Given the description of an element on the screen output the (x, y) to click on. 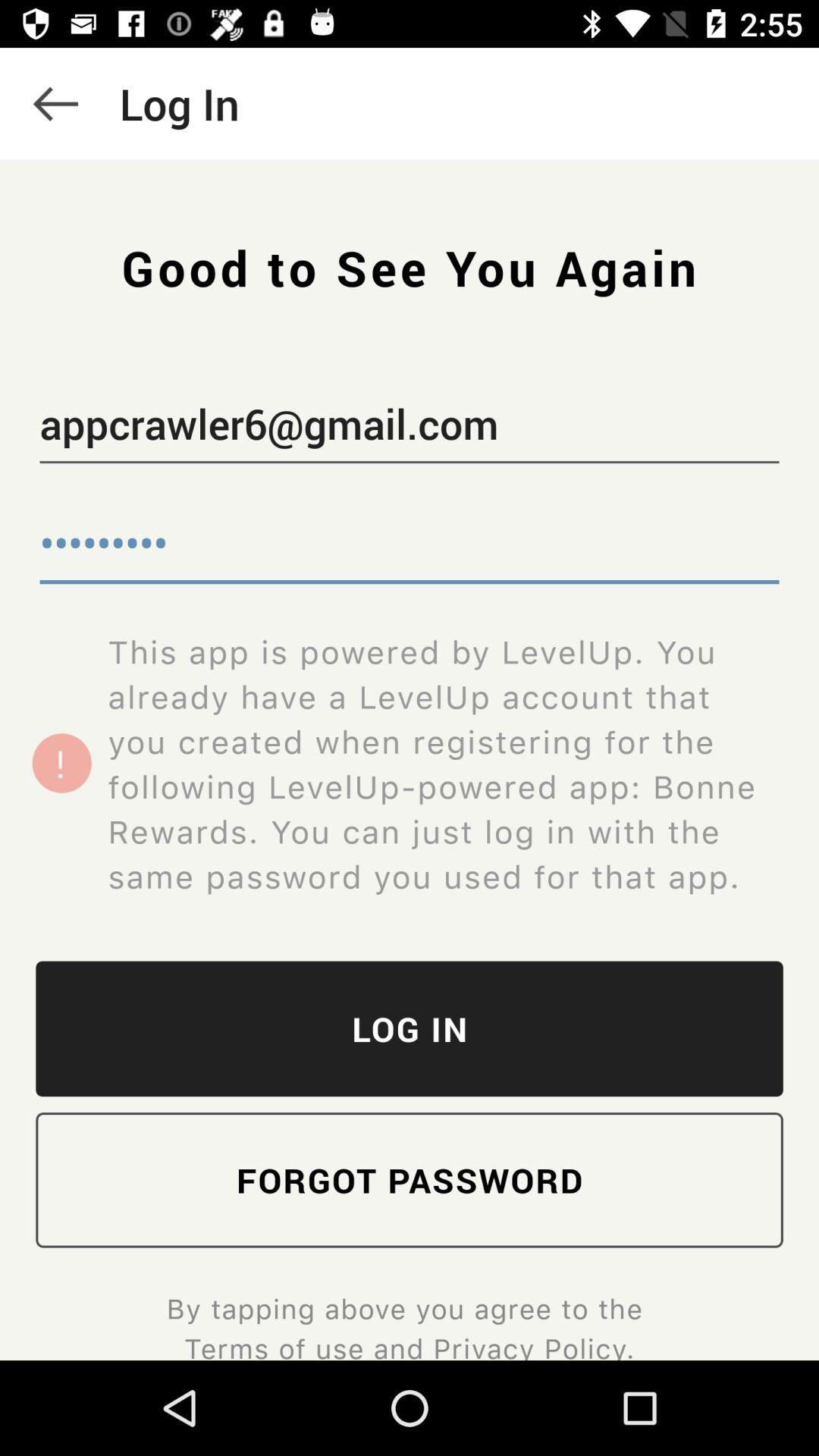
flip until appcrawler6@gmail.com icon (409, 426)
